Given the description of an element on the screen output the (x, y) to click on. 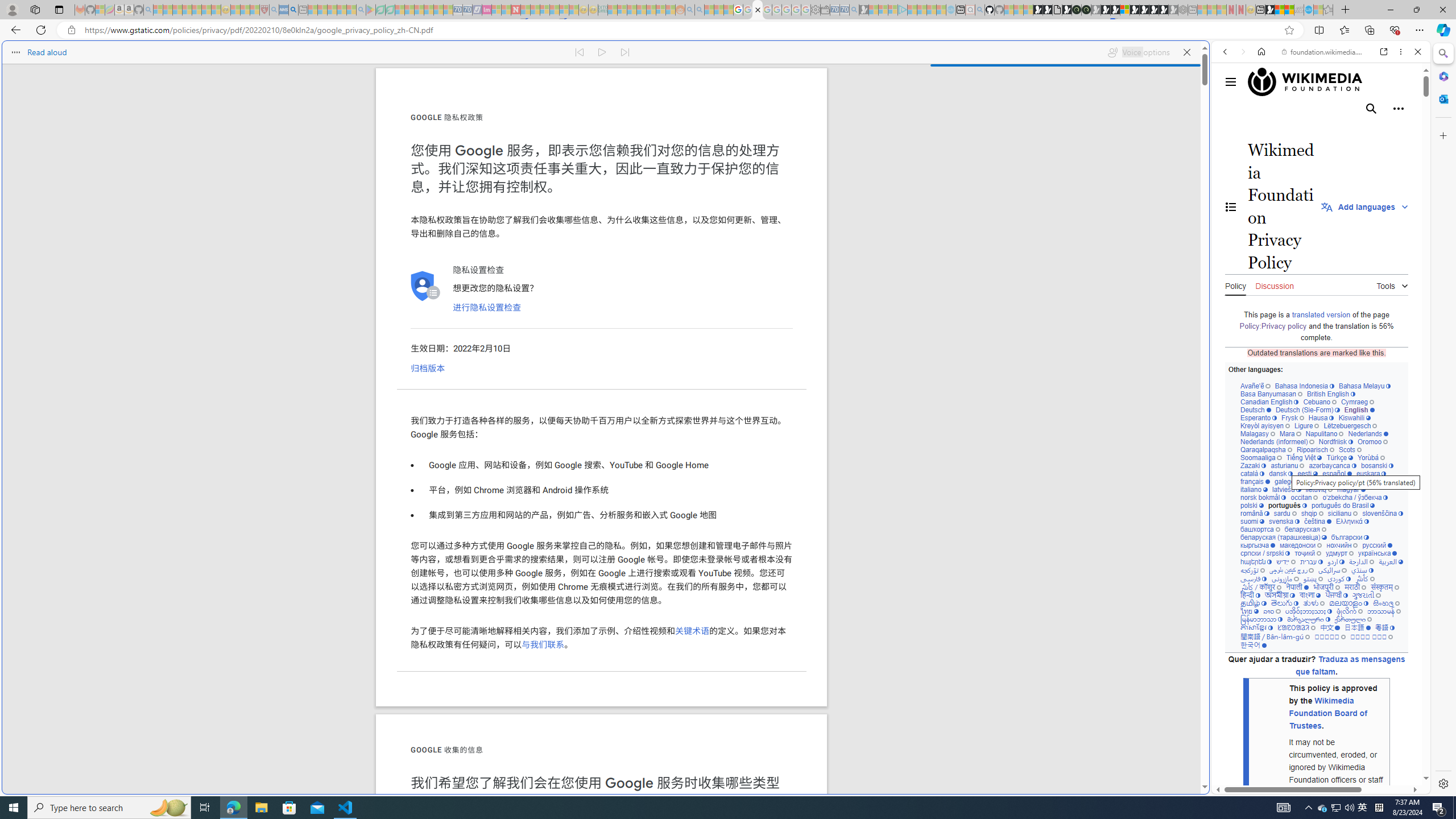
Frequently visited (965, 151)
Soomaaliga (1260, 456)
Policy (1235, 284)
IMAGES (1262, 130)
eesti (1307, 473)
